Given the description of an element on the screen output the (x, y) to click on. 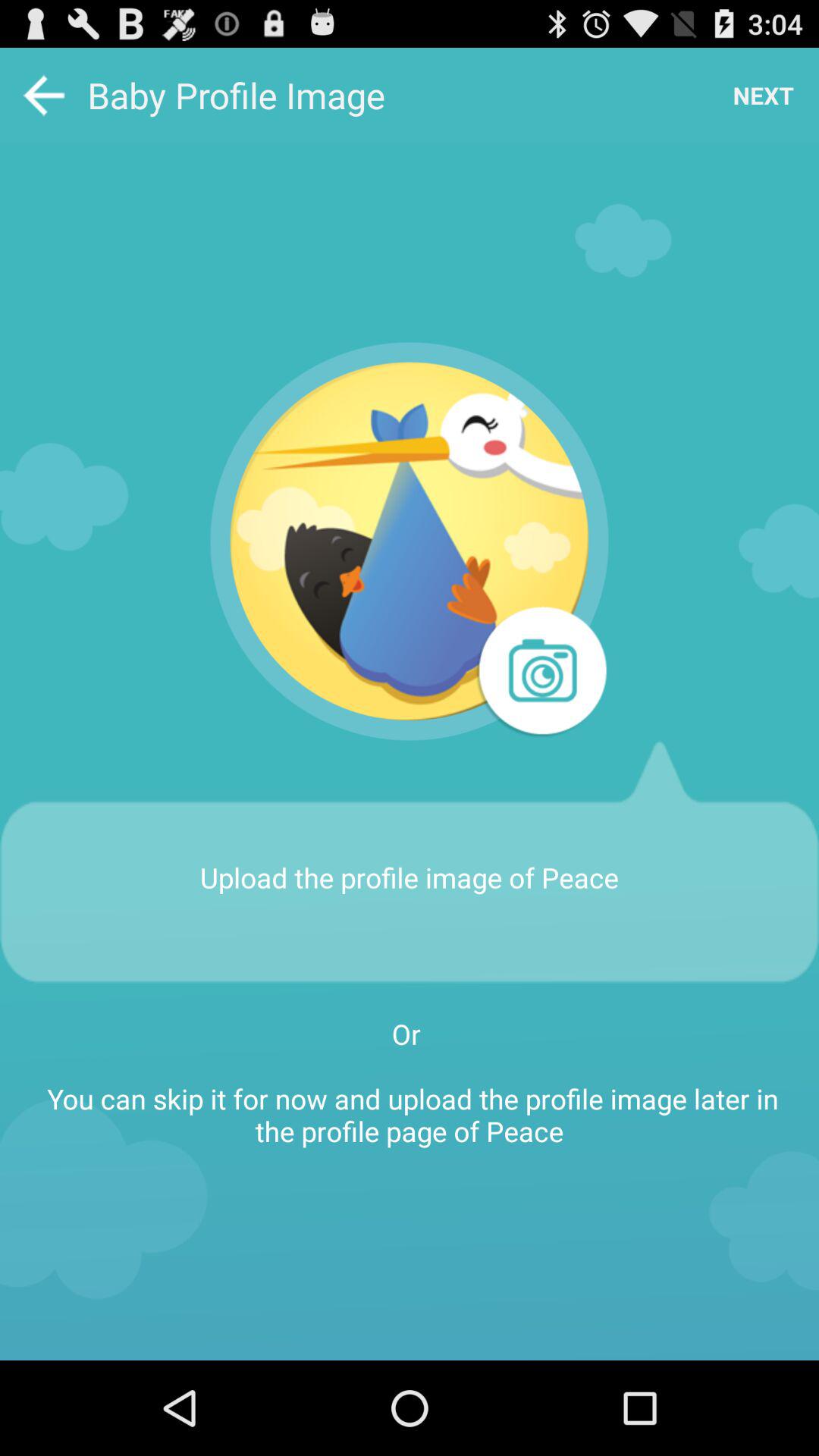
choose icon to the right of baby profile image app (763, 95)
